Given the description of an element on the screen output the (x, y) to click on. 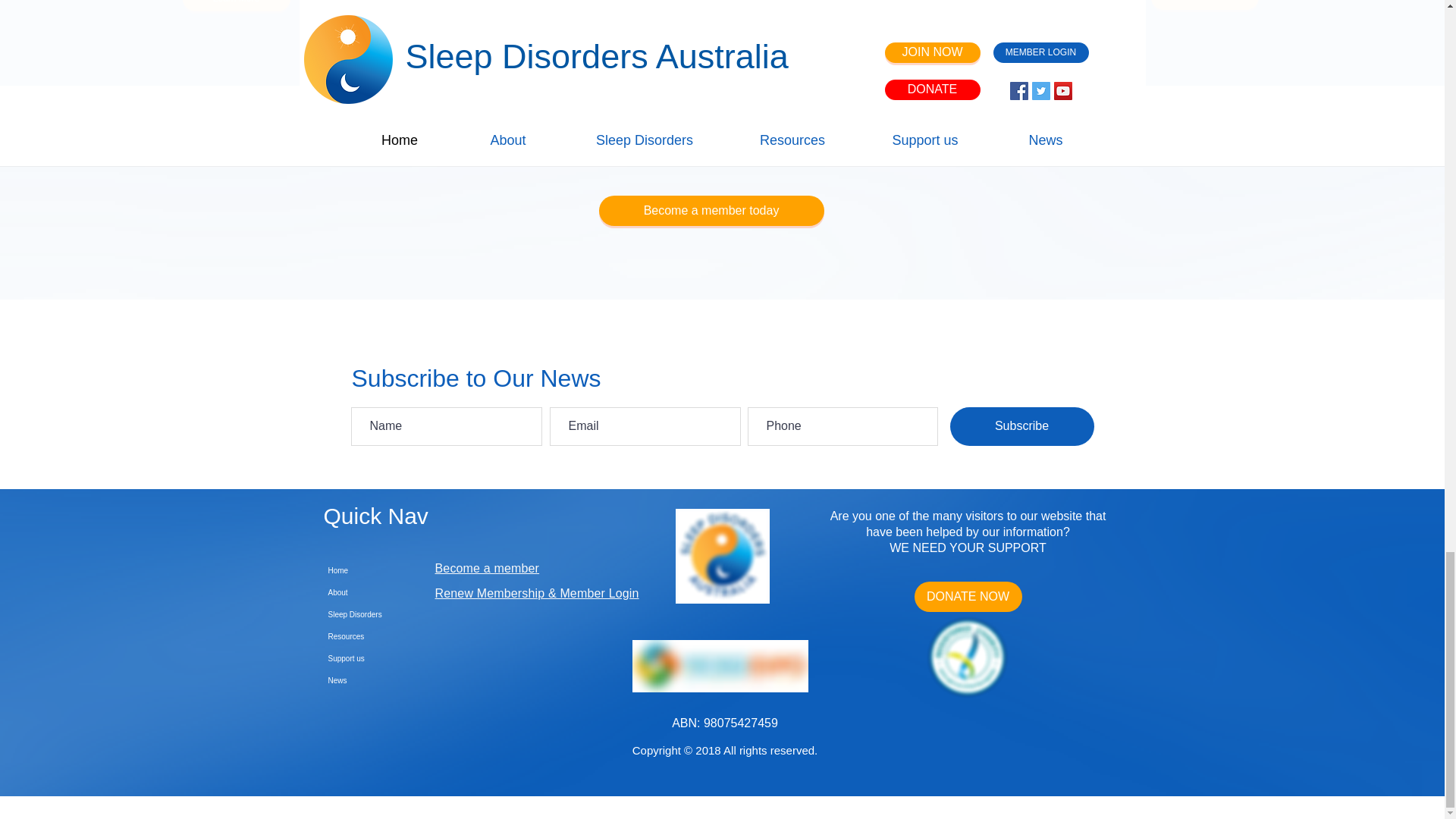
Become a member today (711, 210)
Learn More (1205, 4)
Subscribe (1021, 426)
Learn More (235, 5)
Learn More (722, 7)
